Given the description of an element on the screen output the (x, y) to click on. 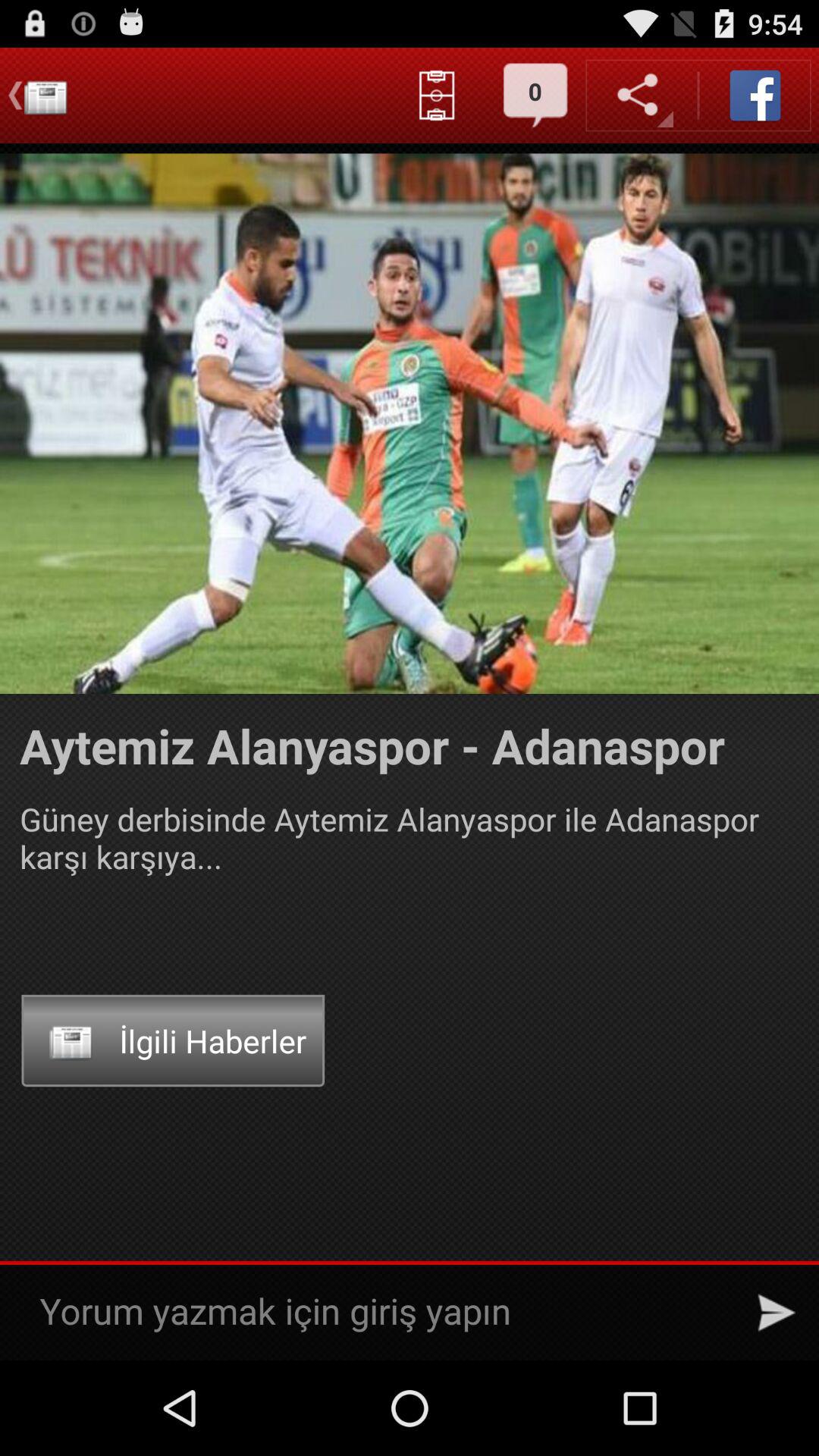
turn on button at the bottom left corner (172, 1040)
